Given the description of an element on the screen output the (x, y) to click on. 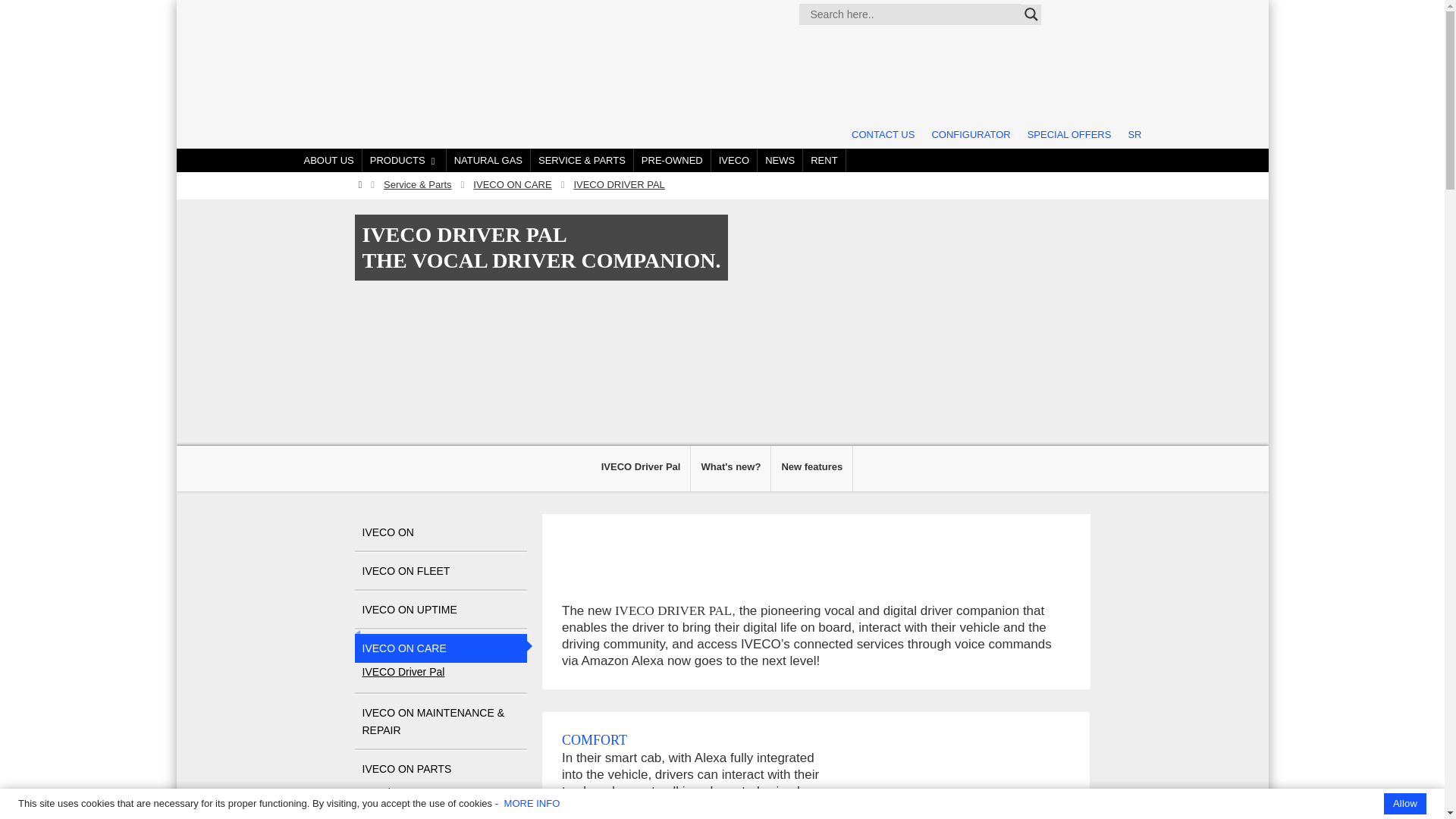
IVECO (734, 160)
SPECIAL OFFERS (1069, 134)
Allow (1405, 803)
PRE-OWNED (672, 160)
Reman (379, 810)
SR (1134, 134)
IVECO ON FLEET (441, 570)
PRODUCTS (404, 160)
CONTACT US (882, 134)
IVECO ON UPTIME (441, 609)
IVECO ON CARE (441, 647)
IVECO ON PARTS (441, 768)
MORE INFO (531, 803)
IVECO Driver Pal (403, 671)
NATURAL GAS (488, 160)
